Given the description of an element on the screen output the (x, y) to click on. 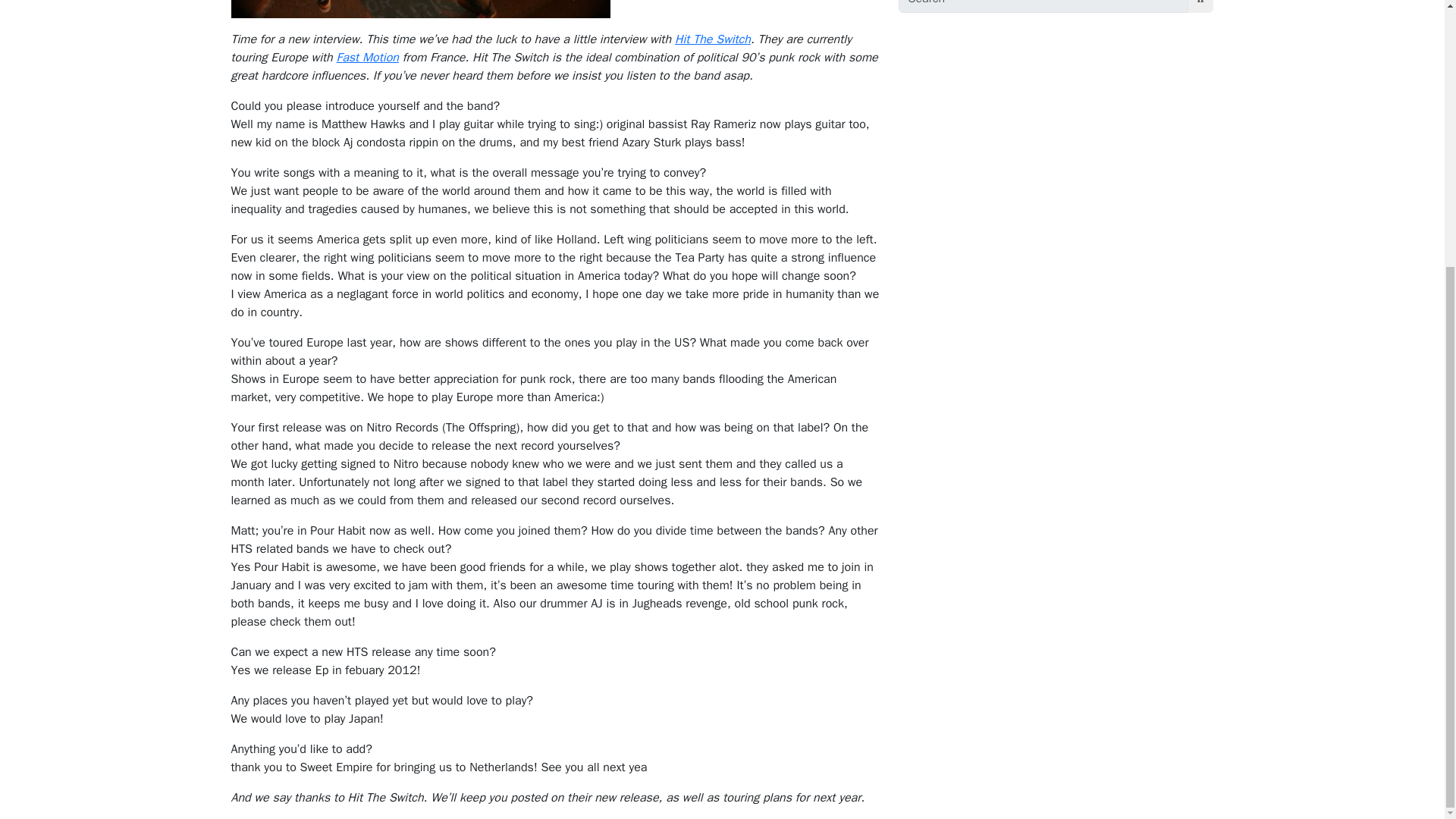
Search (1201, 6)
Fast Motion (366, 57)
Hit The Switch (713, 38)
